Given the description of an element on the screen output the (x, y) to click on. 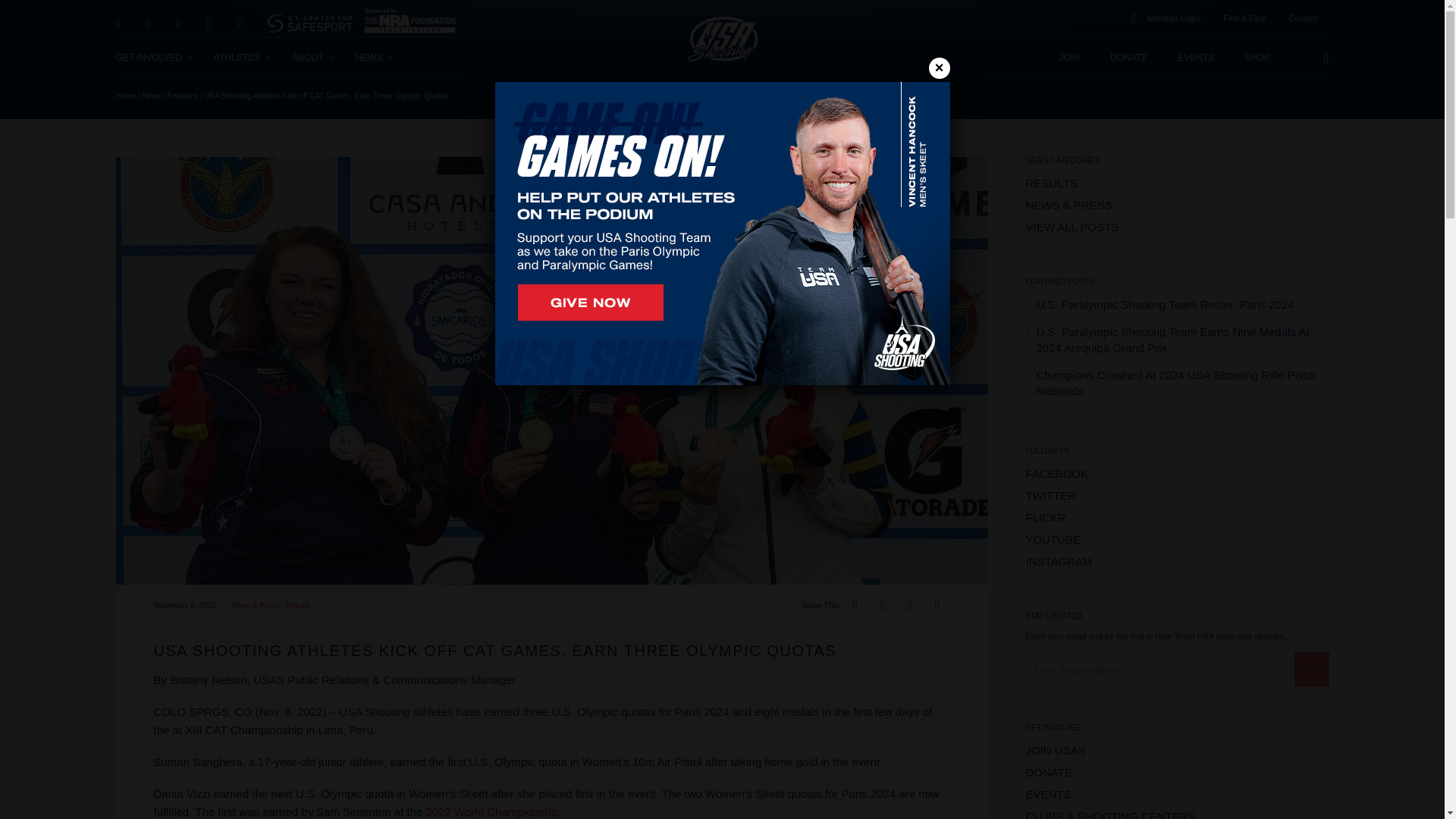
NEWS (374, 57)
JOIN (1069, 57)
Find A Club (1244, 18)
Contact (1302, 18)
Member Login (1173, 18)
GET INVOLVED (154, 57)
ATHLETES (242, 57)
ABOUT (313, 57)
